Given the description of an element on the screen output the (x, y) to click on. 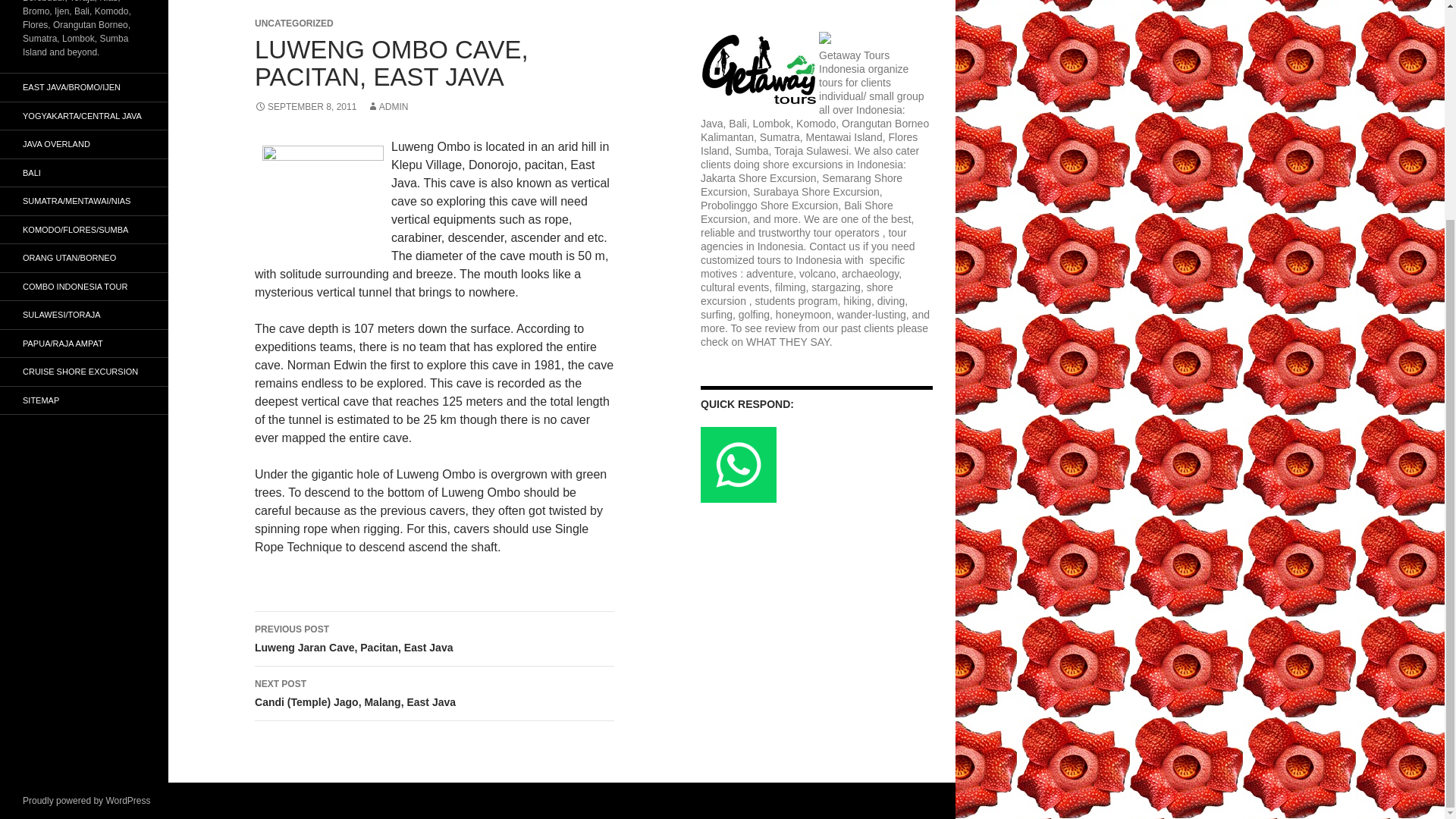
ADMIN (387, 106)
COMBO INDONESIA TOUR (84, 286)
JAVA OVERLAND (84, 144)
SEPTEMBER 8, 2011 (305, 106)
SITEMAP (84, 400)
CRUISE SHORE EXCURSION (434, 638)
Proudly powered by WordPress (84, 371)
BALI (87, 800)
